Given the description of an element on the screen output the (x, y) to click on. 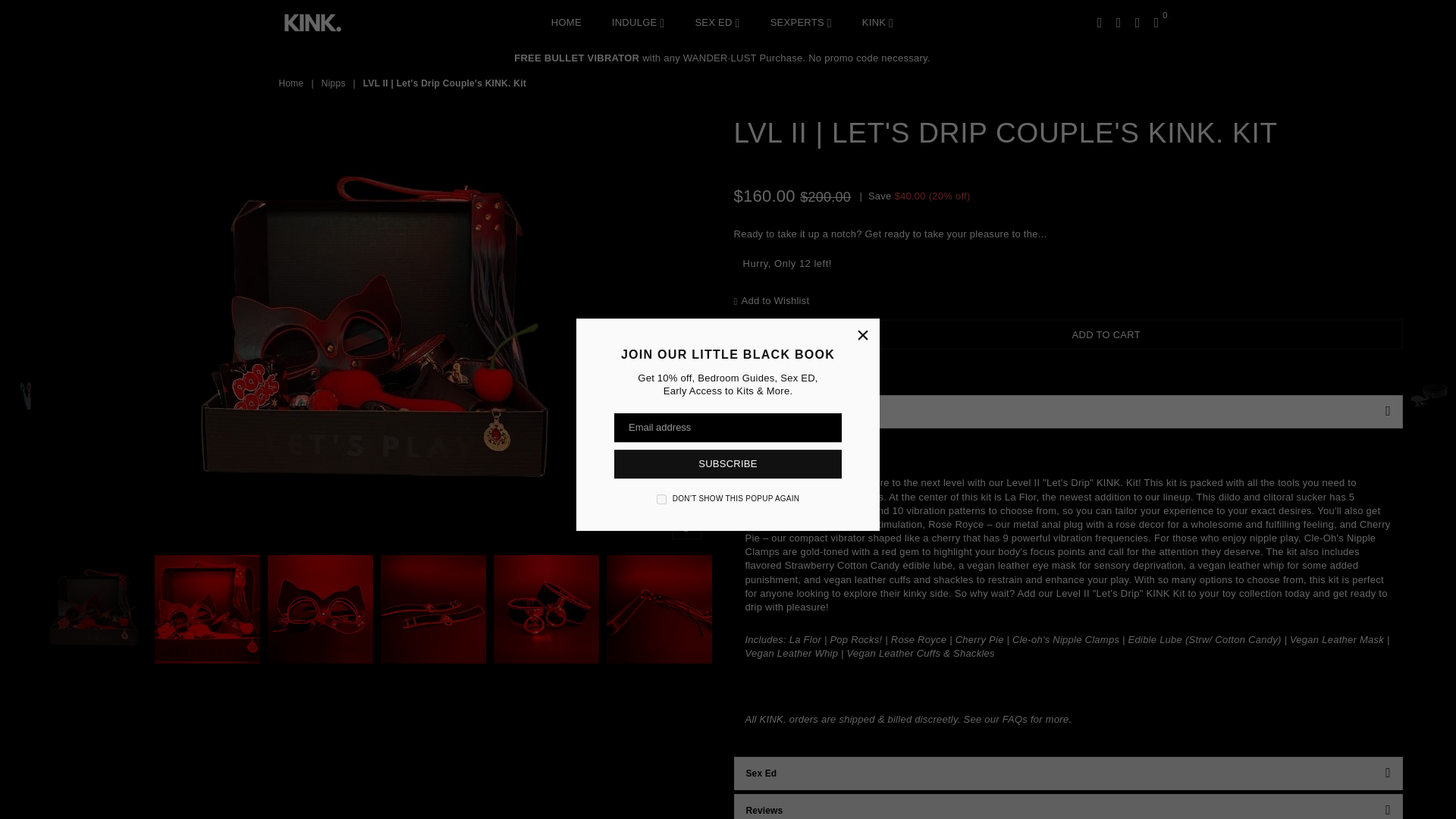
Customer Services Dept. (343, 22)
SEX ED (716, 22)
KINK. Frequently Asked Questions (1015, 719)
HOME (565, 22)
SEXPERTS (800, 22)
Back to the home page (292, 83)
Quantity (767, 334)
on (661, 499)
KINK (877, 22)
Previous Product (26, 395)
INDULGE (638, 22)
SUBSCRIBE (727, 463)
